Given the description of an element on the screen output the (x, y) to click on. 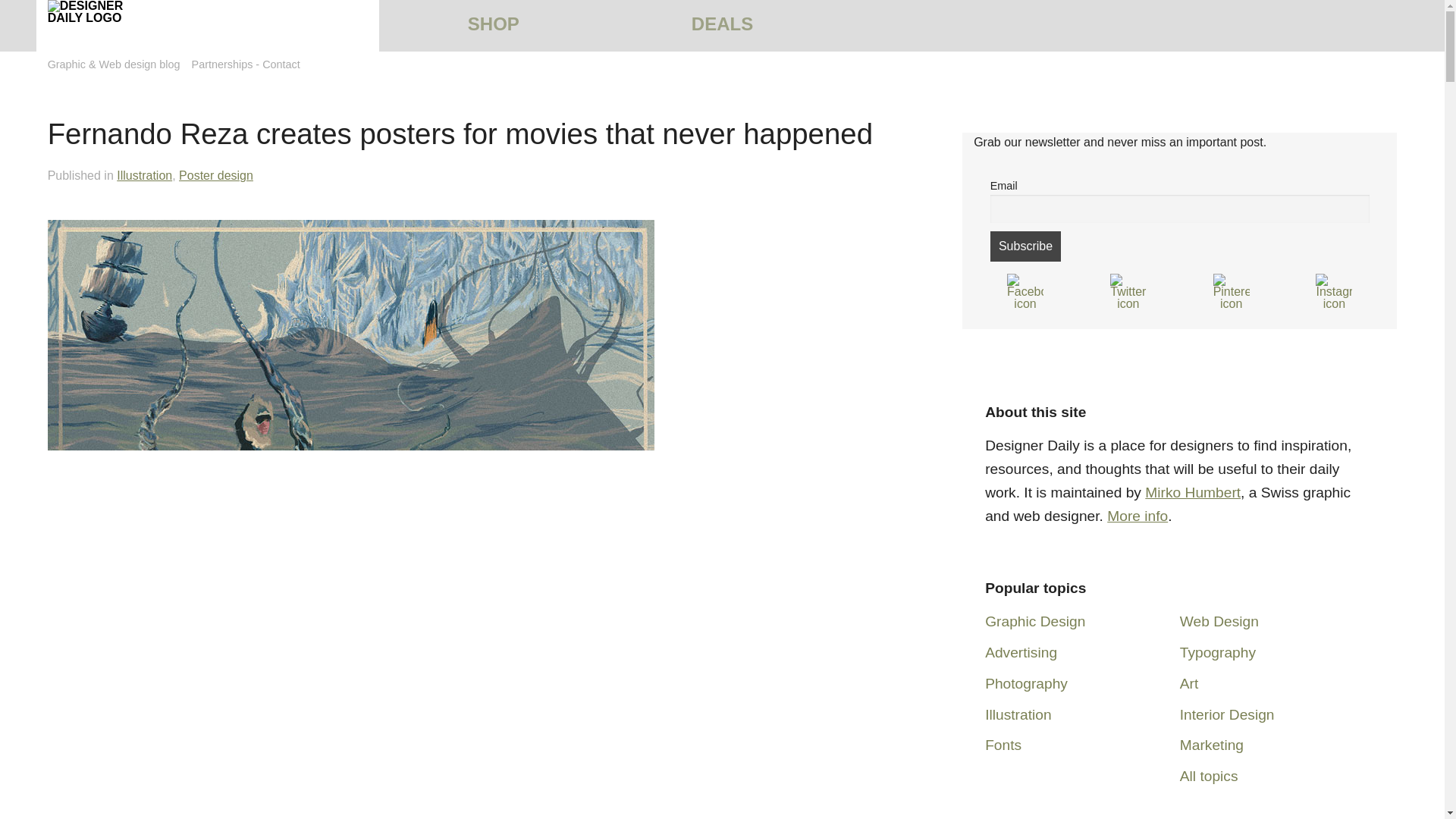
Graphic design posts (1034, 621)
Art posts (1188, 683)
Advertising posts (1021, 652)
Typography posts (1217, 652)
Fonts (1003, 744)
Graphic Design (1034, 621)
Typography (1217, 652)
All topics (1209, 775)
Facebook page (1025, 291)
Contact page (280, 64)
